Given the description of an element on the screen output the (x, y) to click on. 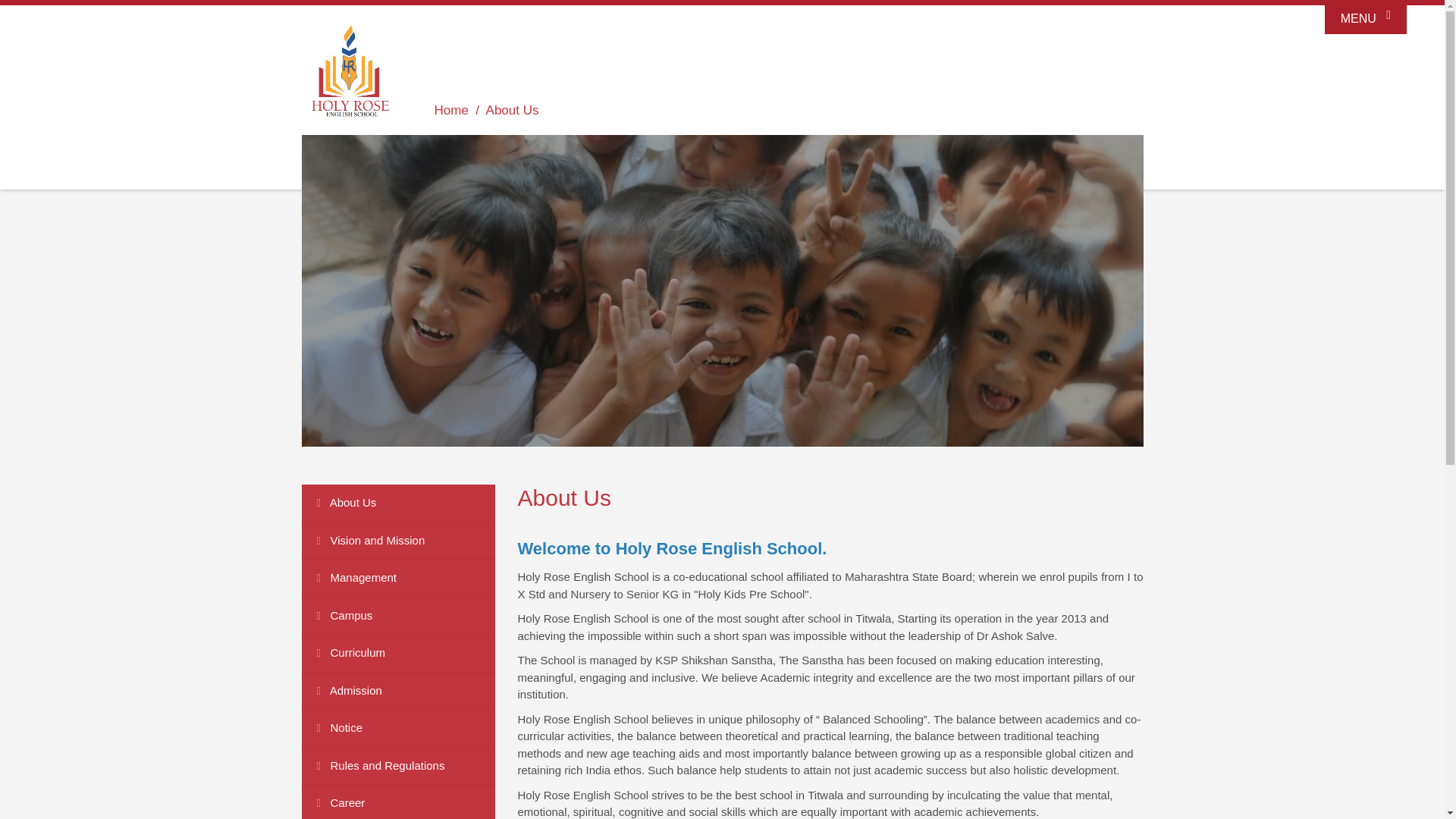
  Career (398, 801)
  Rules and Regulations (398, 766)
  Vision and Mission (398, 541)
  Notice (398, 728)
  Management (398, 578)
  Curriculum (398, 653)
  About Us (398, 503)
Home (450, 110)
  Admission (398, 691)
  Campus (398, 616)
